Given the description of an element on the screen output the (x, y) to click on. 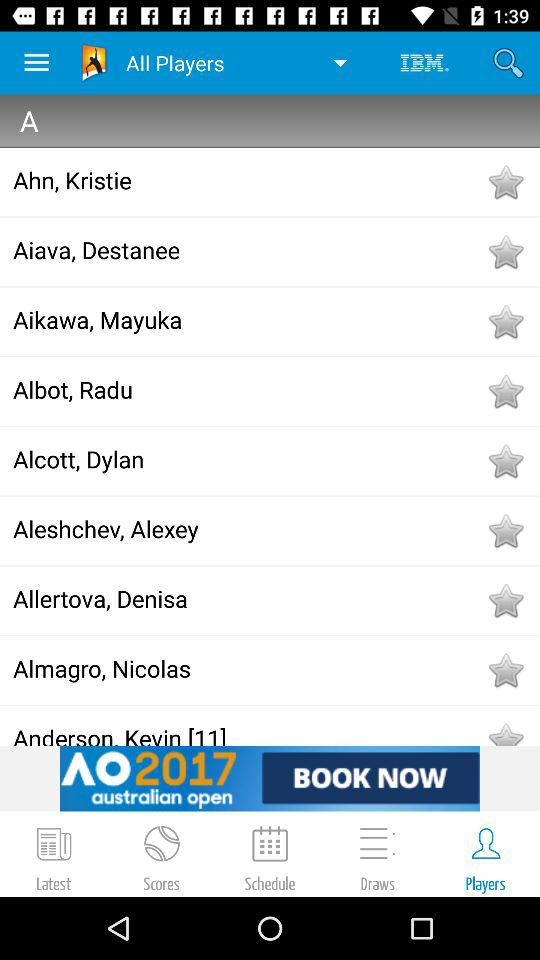
favorite selection (505, 461)
